Given the description of an element on the screen output the (x, y) to click on. 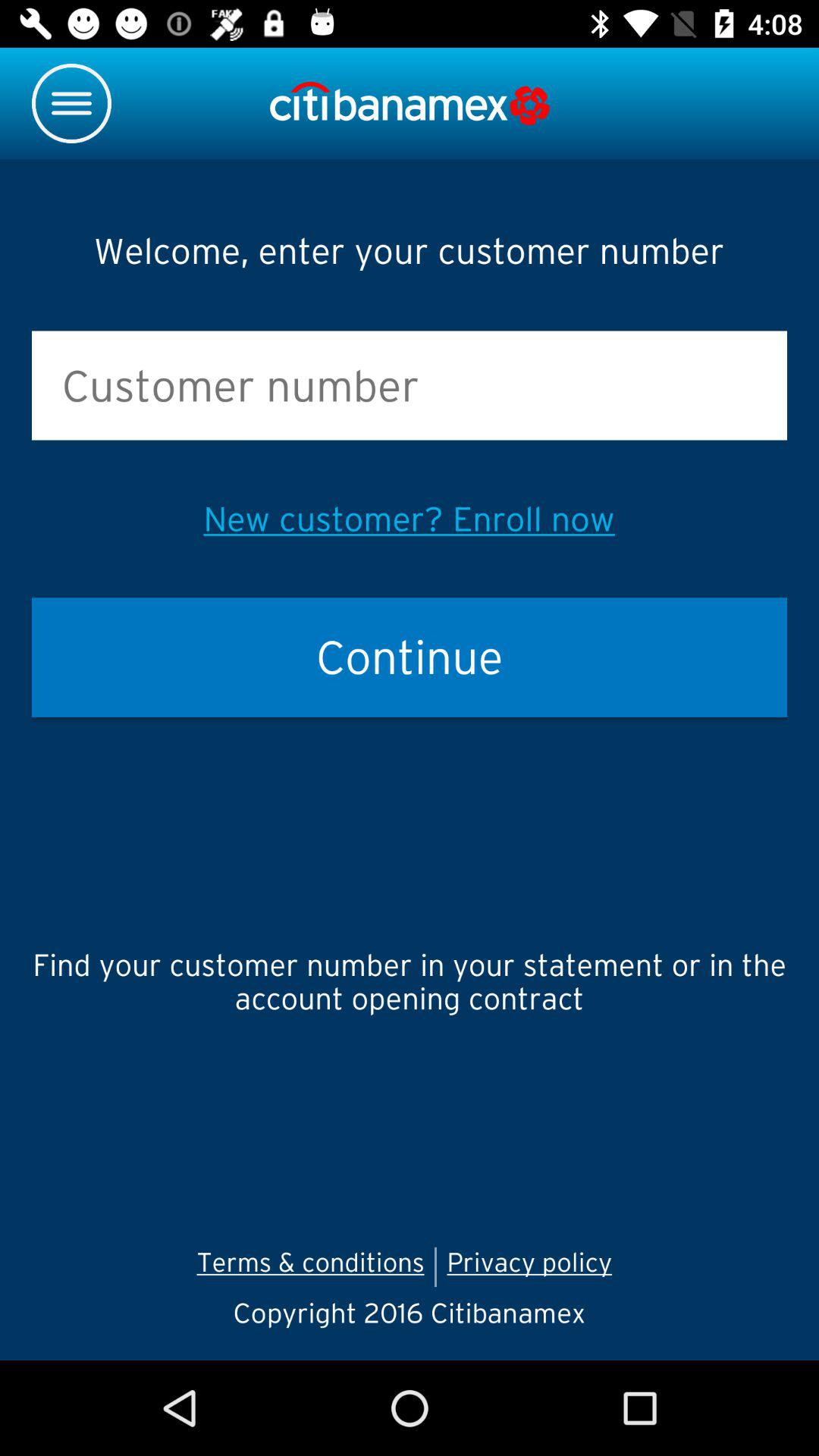
tap the new customer enroll icon (408, 518)
